Given the description of an element on the screen output the (x, y) to click on. 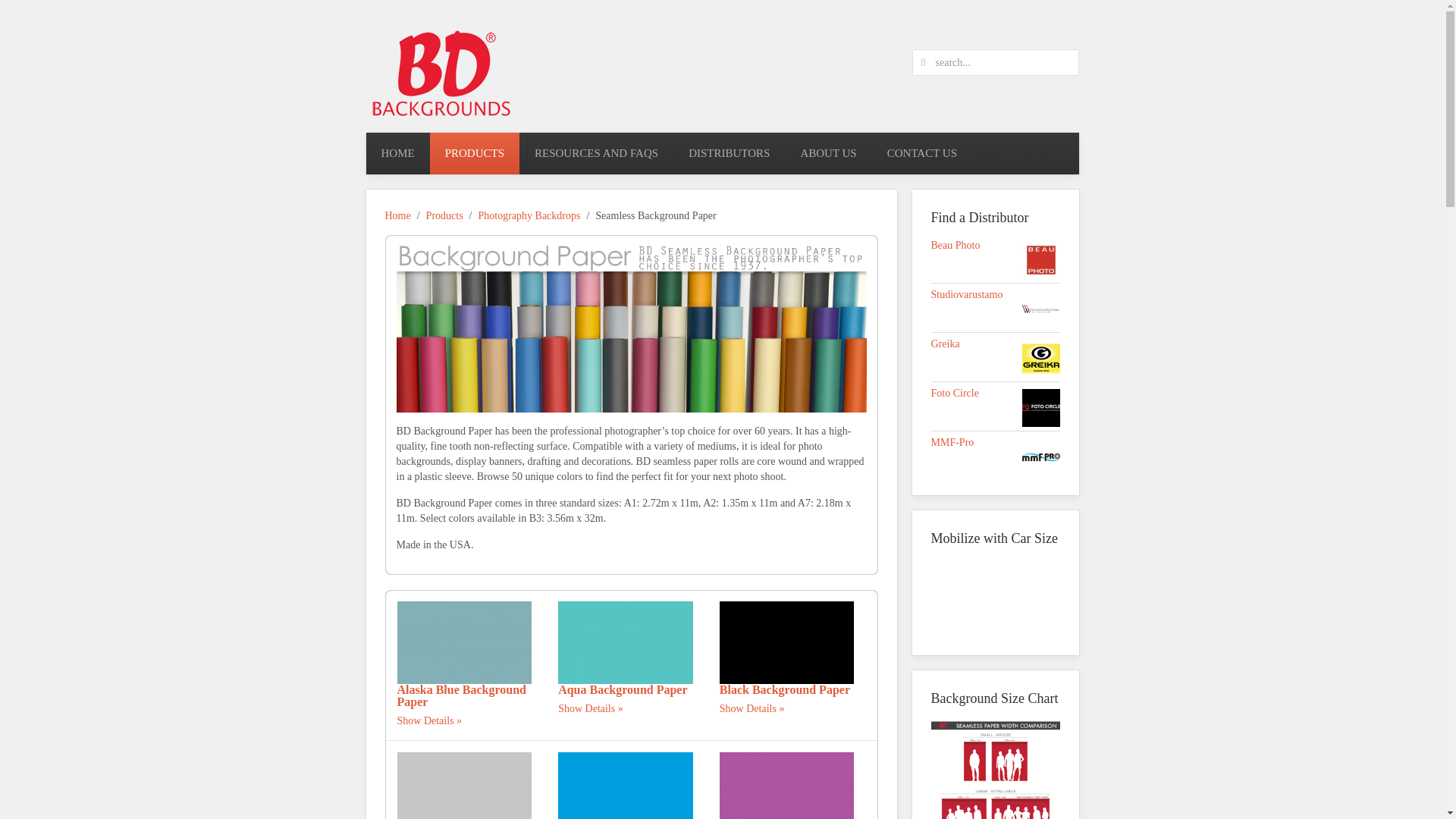
Aqua Background Paper (622, 689)
DISTRIBUTORS (728, 153)
Aqua Background Paper (625, 642)
Boysenberry Background Paper (786, 792)
Black Background Paper (784, 689)
Blue Heaven Background Paper  (625, 792)
Boysenberry Background Paper (786, 785)
Show Details (430, 720)
Alaska Blue Background Paper (464, 642)
Photography Backdrops (528, 215)
